Given the description of an element on the screen output the (x, y) to click on. 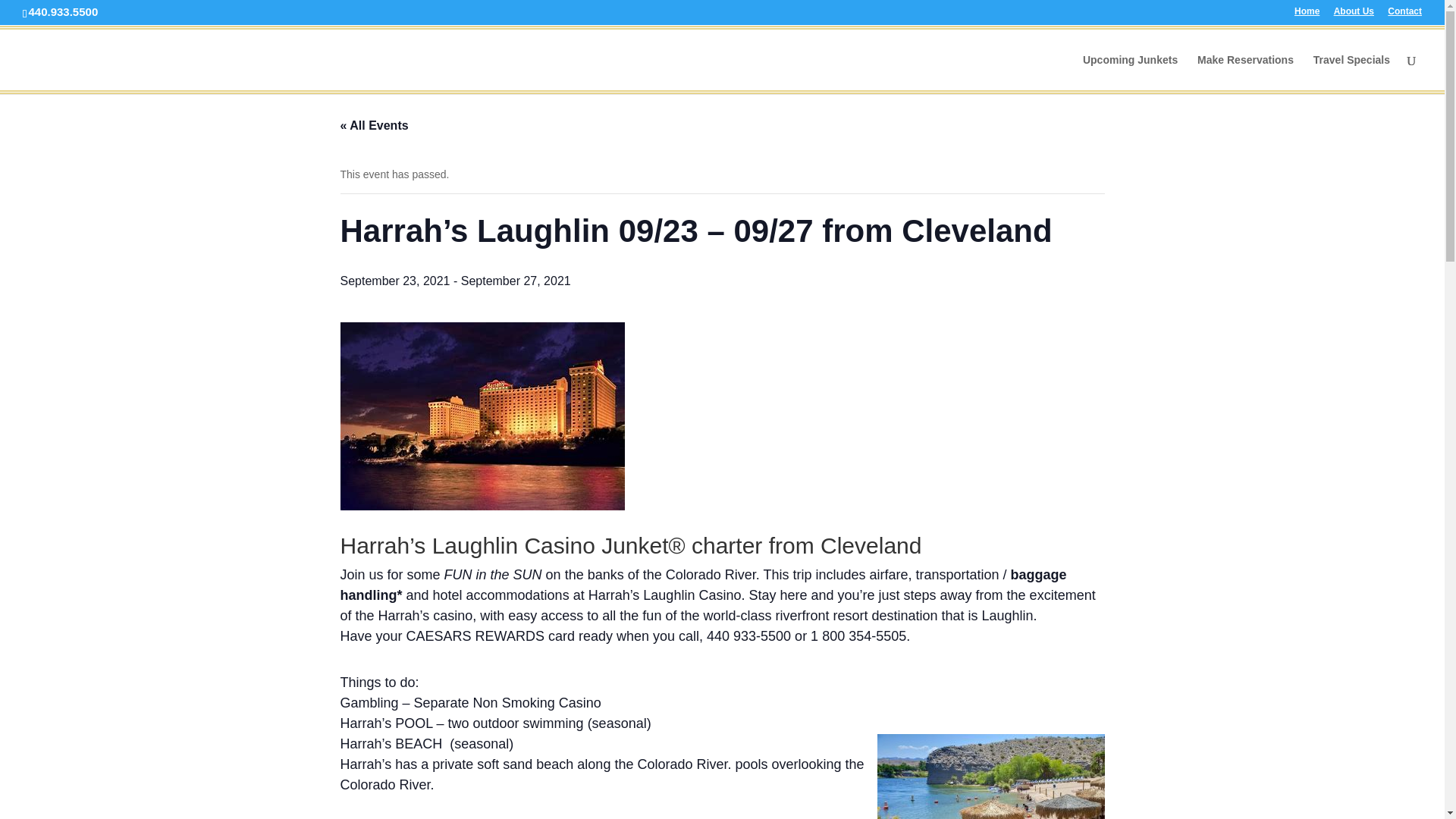
Home (1306, 14)
Make Reservations (1245, 72)
Travel Specials (1351, 72)
Contact (1404, 14)
Upcoming Junkets (1130, 72)
About Us (1353, 14)
